Given the description of an element on the screen output the (x, y) to click on. 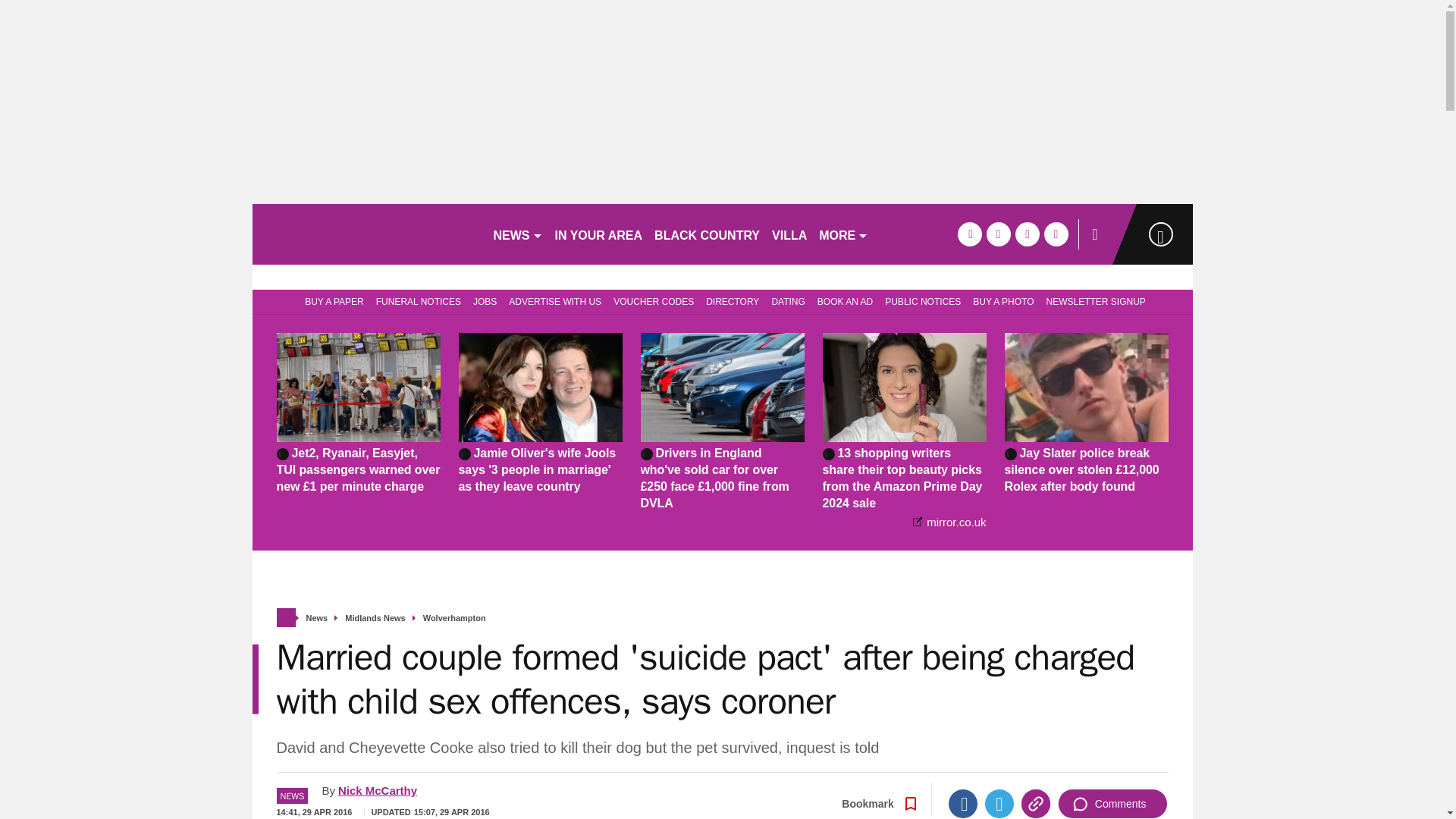
instagram (1055, 233)
twitter (997, 233)
Comments (1112, 803)
IN YOUR AREA (598, 233)
Facebook (962, 803)
facebook (968, 233)
Twitter (999, 803)
MORE (843, 233)
NEWS (517, 233)
VILLA (788, 233)
birminghammail (365, 233)
BLACK COUNTRY (706, 233)
tiktok (1026, 233)
